Given the description of an element on the screen output the (x, y) to click on. 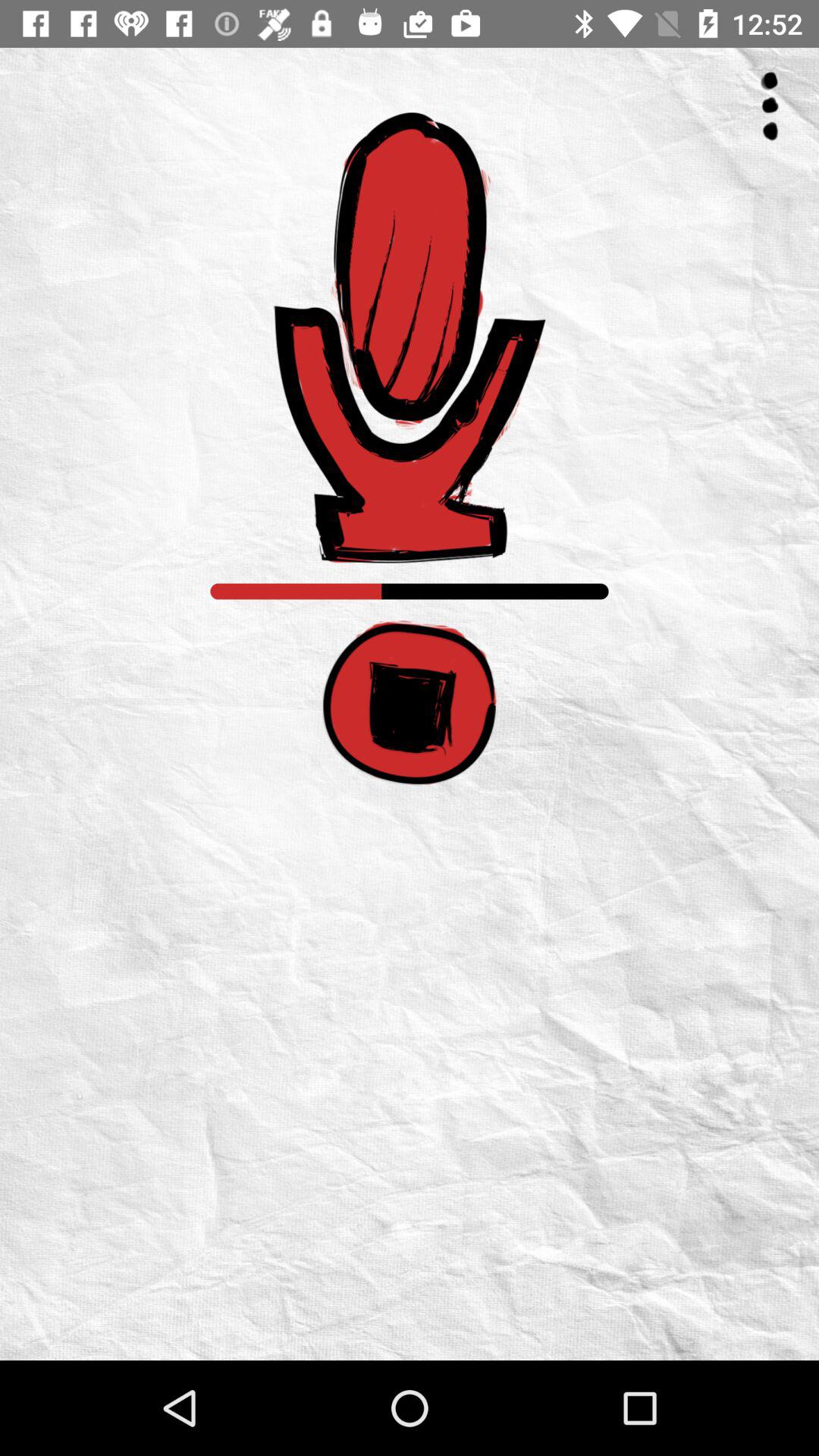
open settings (769, 106)
